Given the description of an element on the screen output the (x, y) to click on. 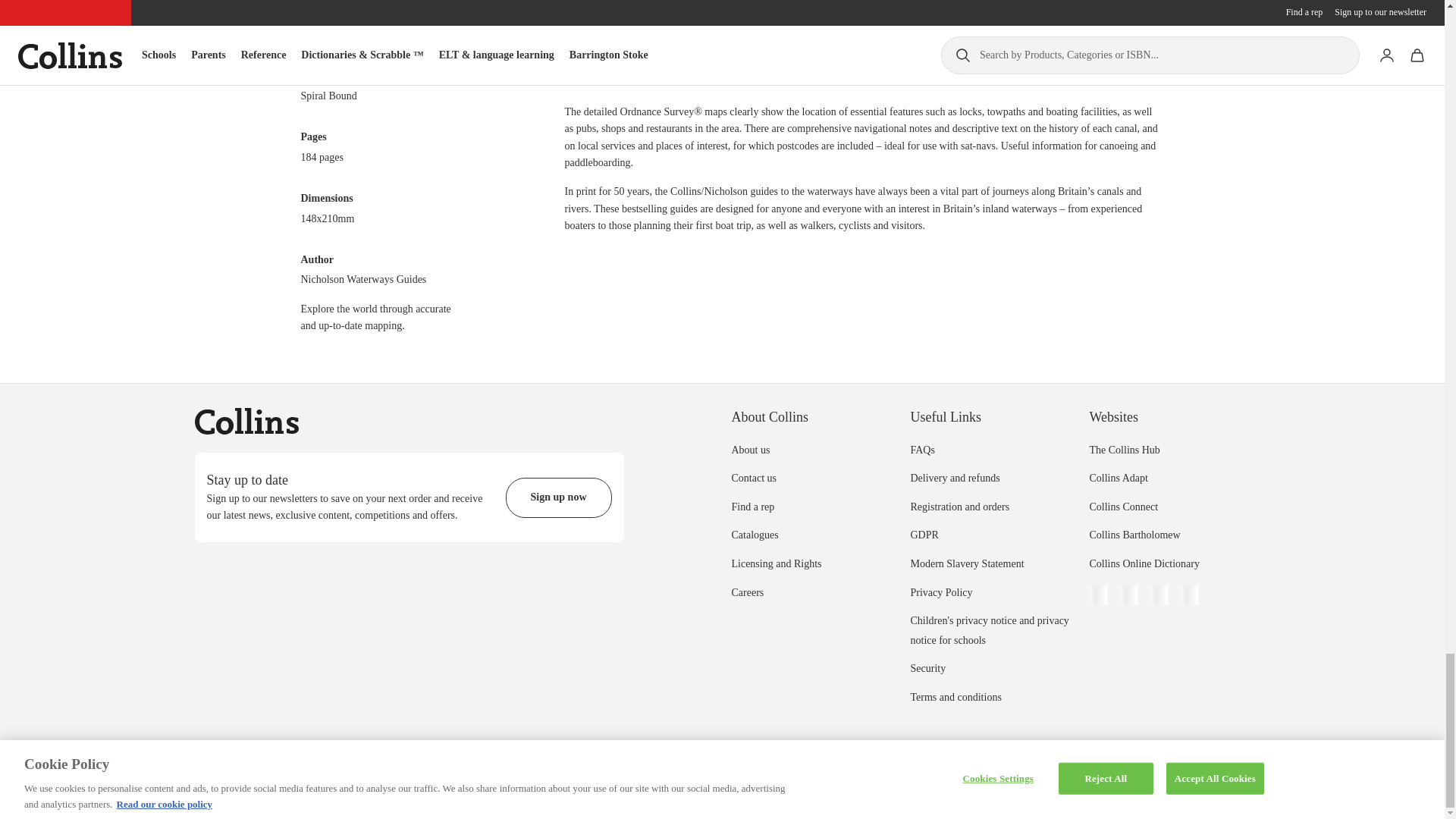
Careers (746, 592)
Find a rep (752, 506)
Contact us (753, 478)
Delivery and refunds (954, 478)
Licensing and Rights (775, 563)
Sign up now (558, 496)
Catalogues (753, 534)
About us (750, 449)
FAQs (922, 449)
Registration and orders (959, 506)
